Given the description of an element on the screen output the (x, y) to click on. 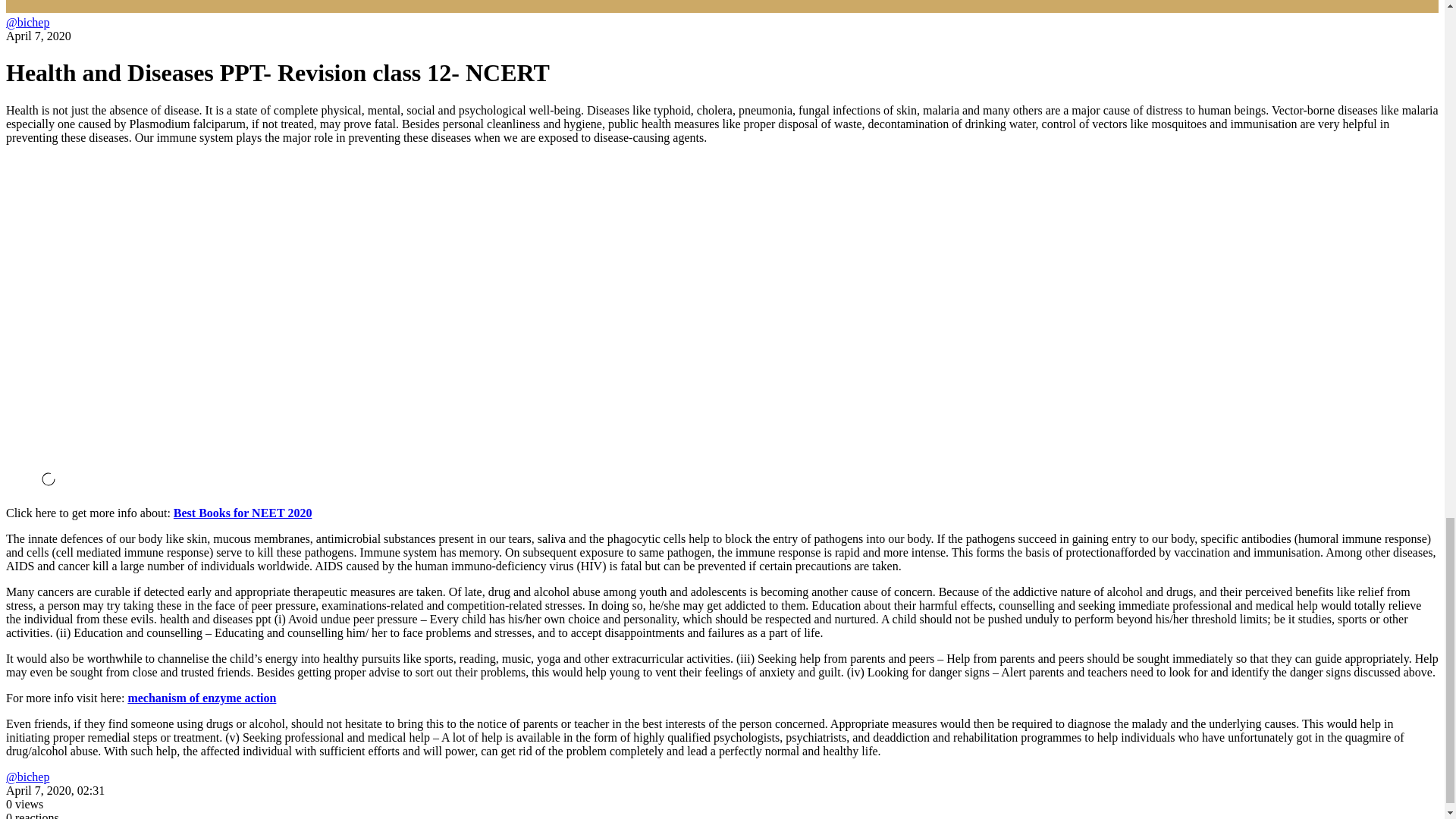
Best Books for NEET 2020 (243, 512)
mechanism of enzyme action (202, 697)
